Given the description of an element on the screen output the (x, y) to click on. 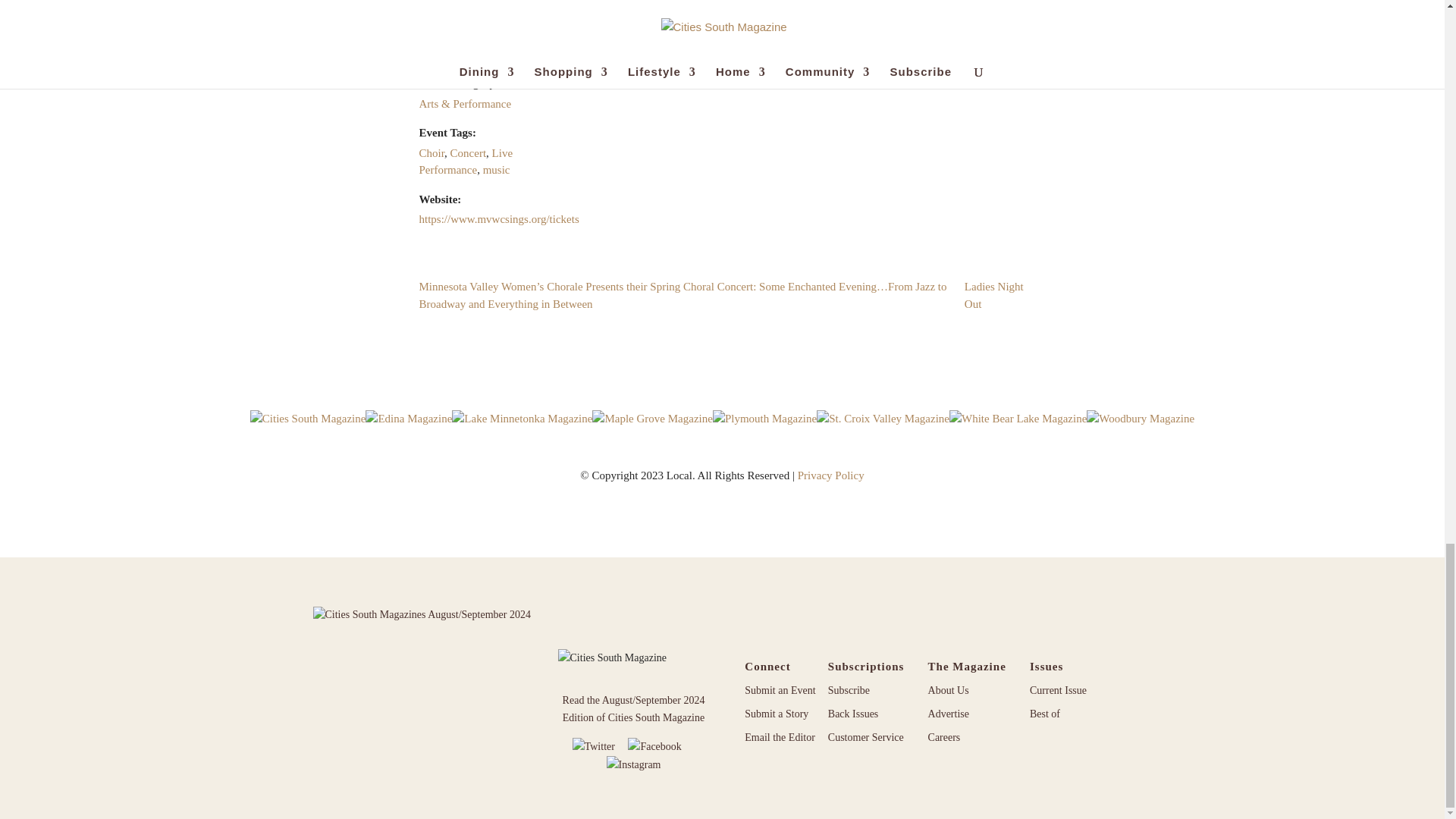
Click to view a Google Map (765, 6)
2023-05-06 (482, 7)
